Given the description of an element on the screen output the (x, y) to click on. 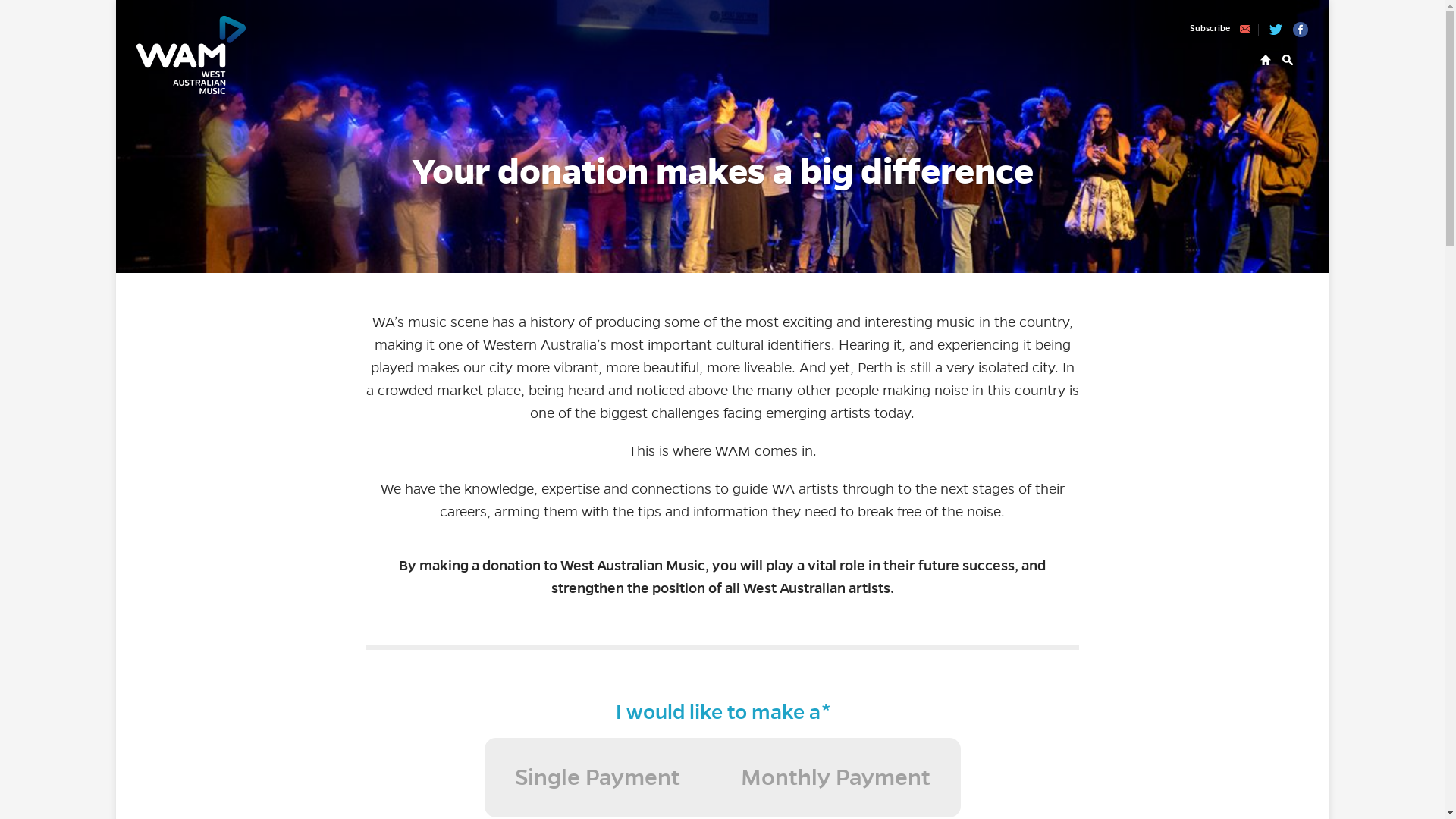
Follow WAM on Twitter Element type: hover (1275, 29)
75|75 Element type: text (4, 4)
Like WAM on Facebook Element type: hover (1300, 29)
Subscribe Element type: text (1223, 29)
Homepage Element type: hover (1265, 59)
Search WAM Element type: hover (1287, 59)
WAM. West Autralian Music Element type: hover (191, 54)
